Given the description of an element on the screen output the (x, y) to click on. 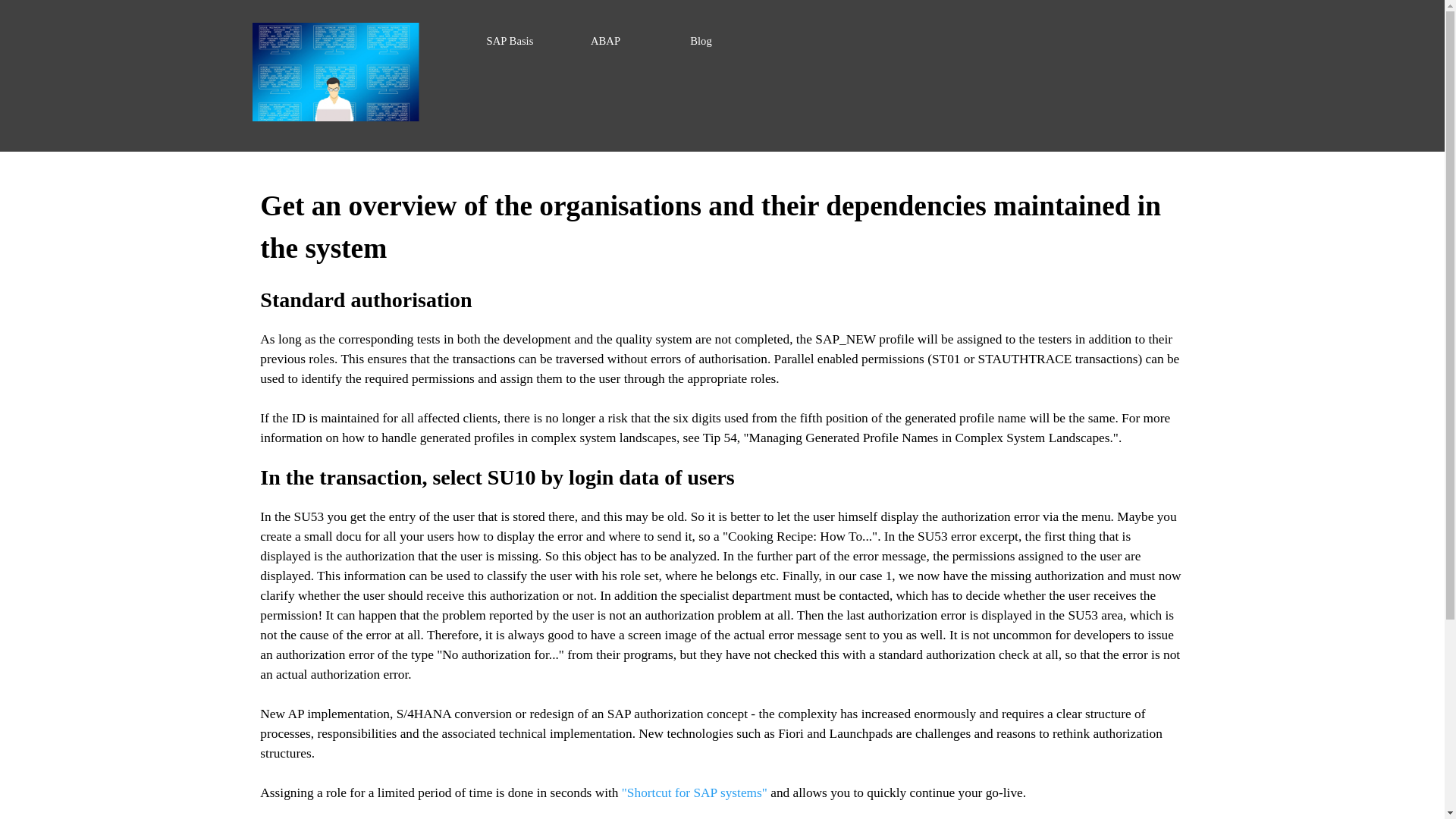
SAP Basis (509, 40)
"Shortcut for SAP systems" (694, 792)
ABAP (605, 40)
Blog (700, 40)
